Given the description of an element on the screen output the (x, y) to click on. 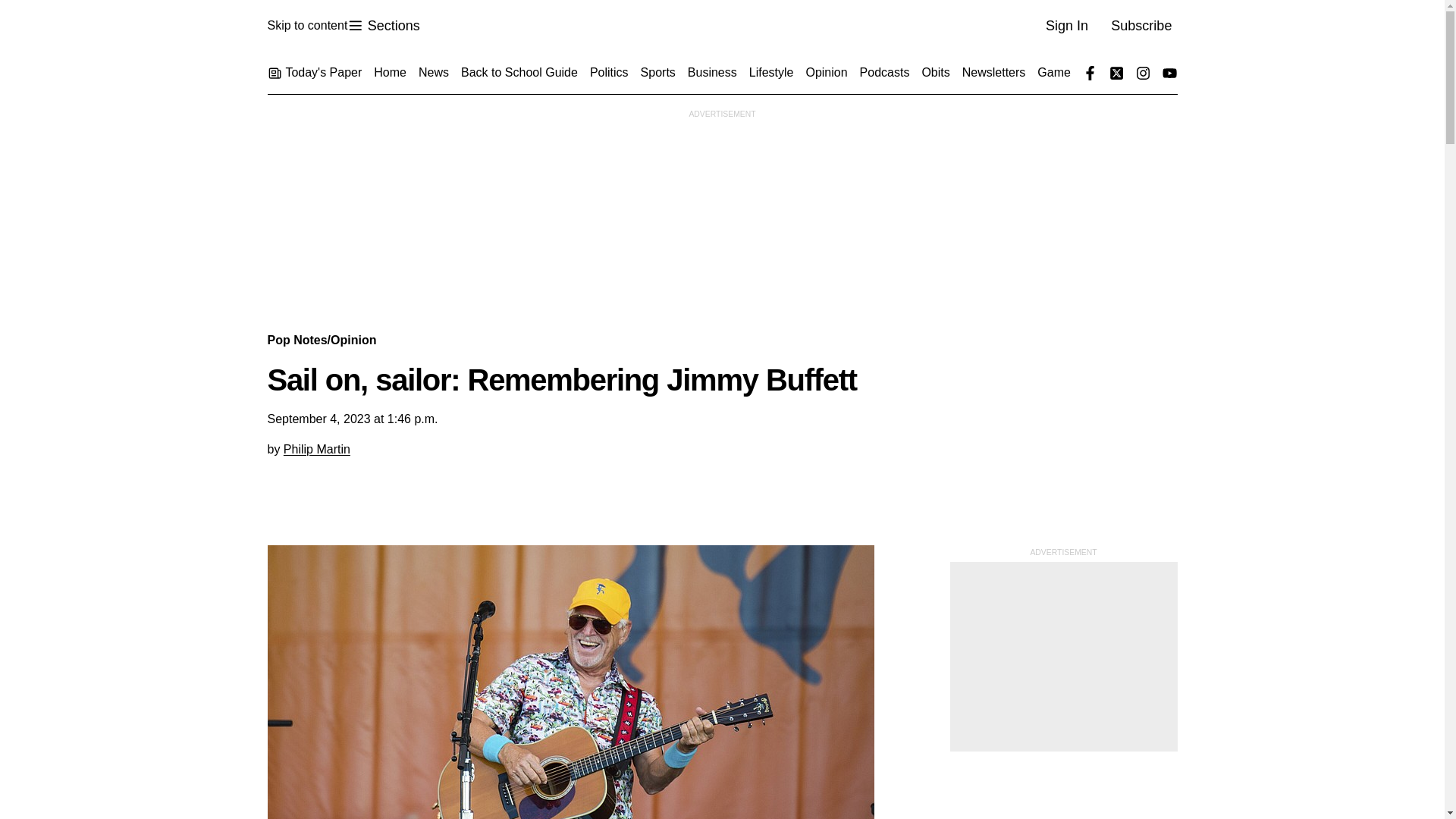
Skip to content (306, 25)
Arkansas Democrat Gazette (383, 25)
